Given the description of an element on the screen output the (x, y) to click on. 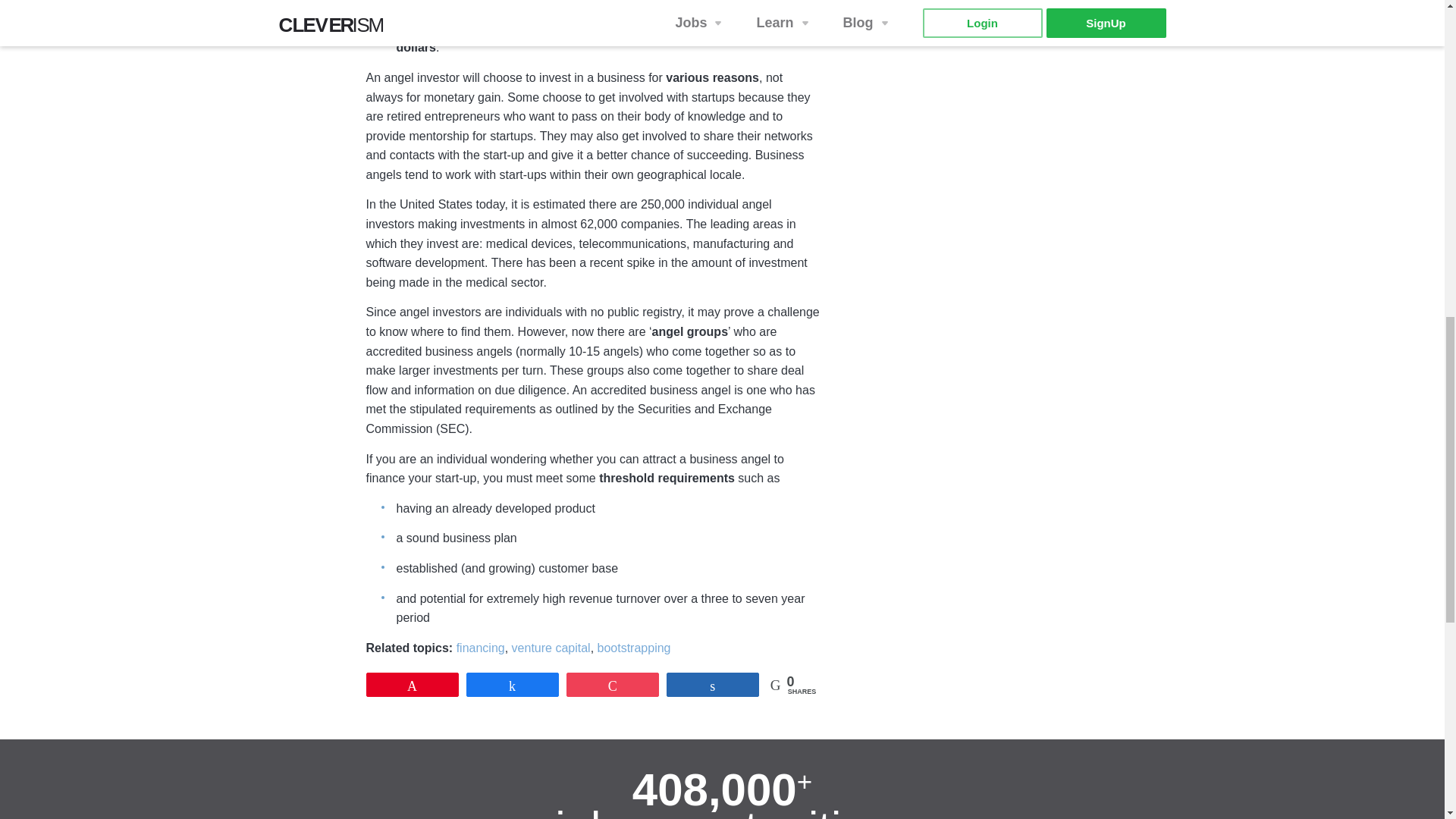
financing (481, 648)
bootstrapping (633, 648)
venture capital (551, 648)
